Given the description of an element on the screen output the (x, y) to click on. 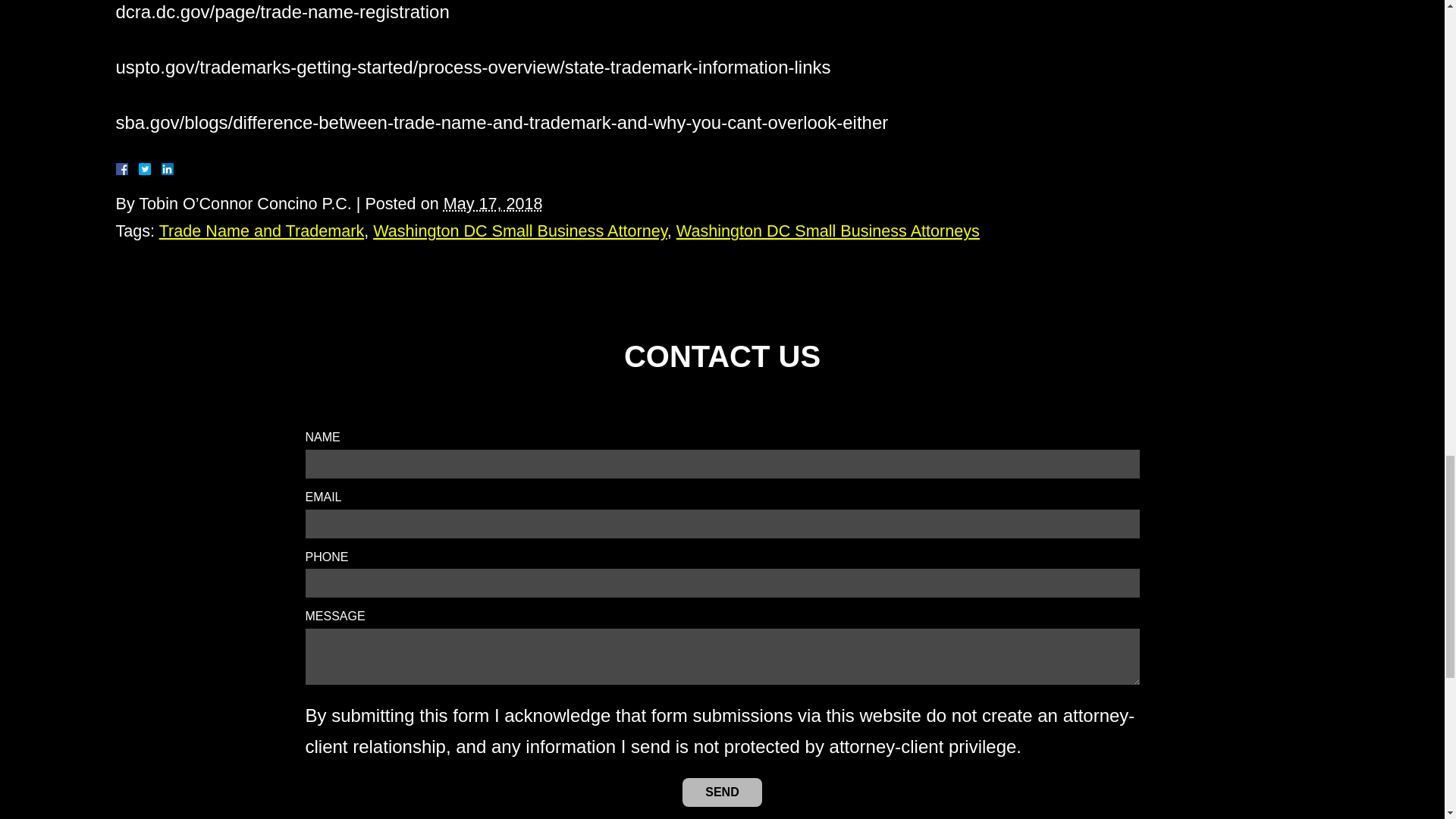
LinkedIn (160, 168)
Facebook (139, 168)
Send (721, 792)
2018-05-17T06:27:33-0700 (493, 203)
Twitter (149, 168)
